Given the description of an element on the screen output the (x, y) to click on. 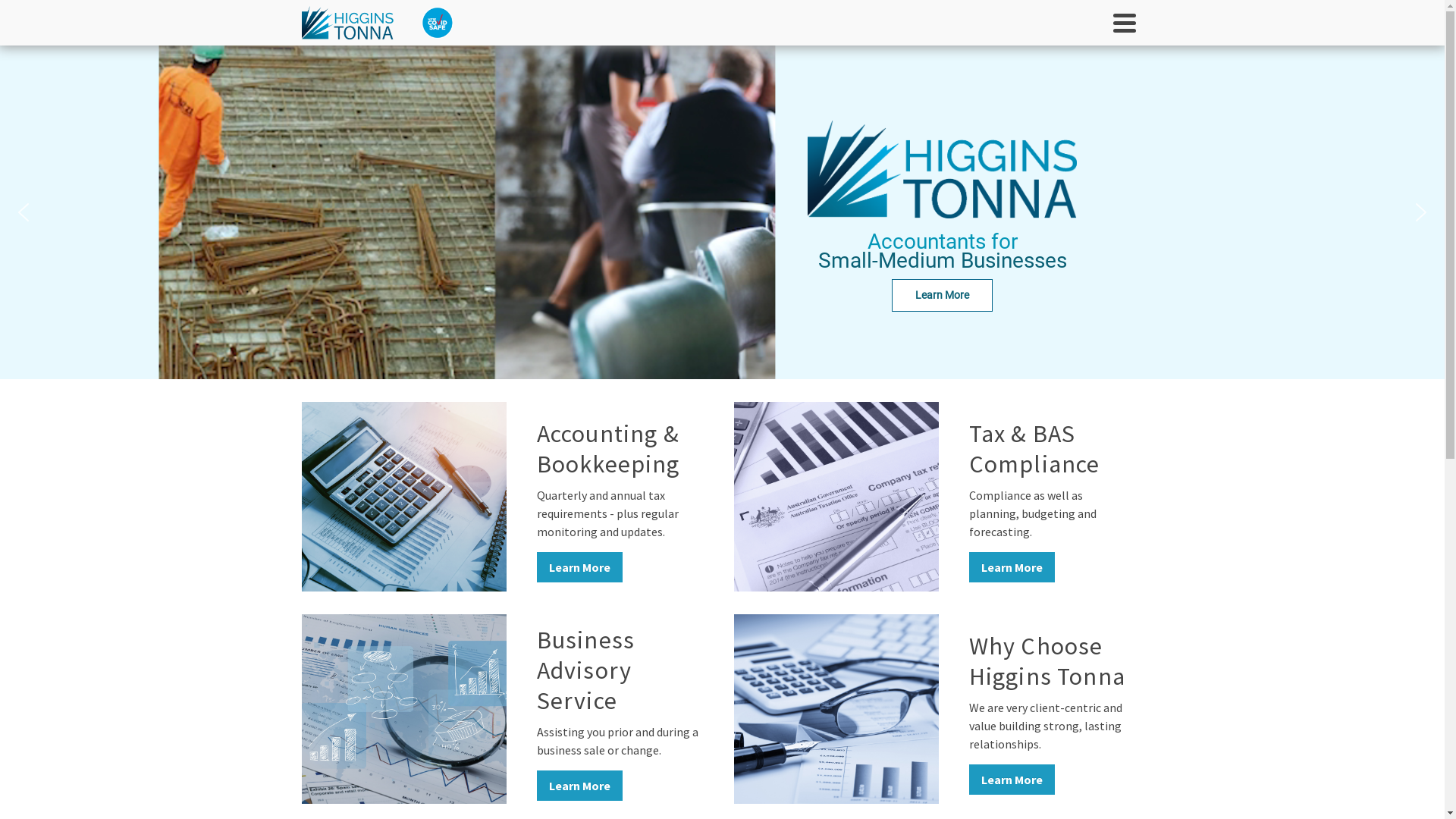
Learn More Element type: text (941, 295)
Learn More Element type: text (579, 567)
Learn More Element type: text (579, 785)
Learn More Element type: text (1011, 567)
Learn More Element type: text (1011, 779)
